Given the description of an element on the screen output the (x, y) to click on. 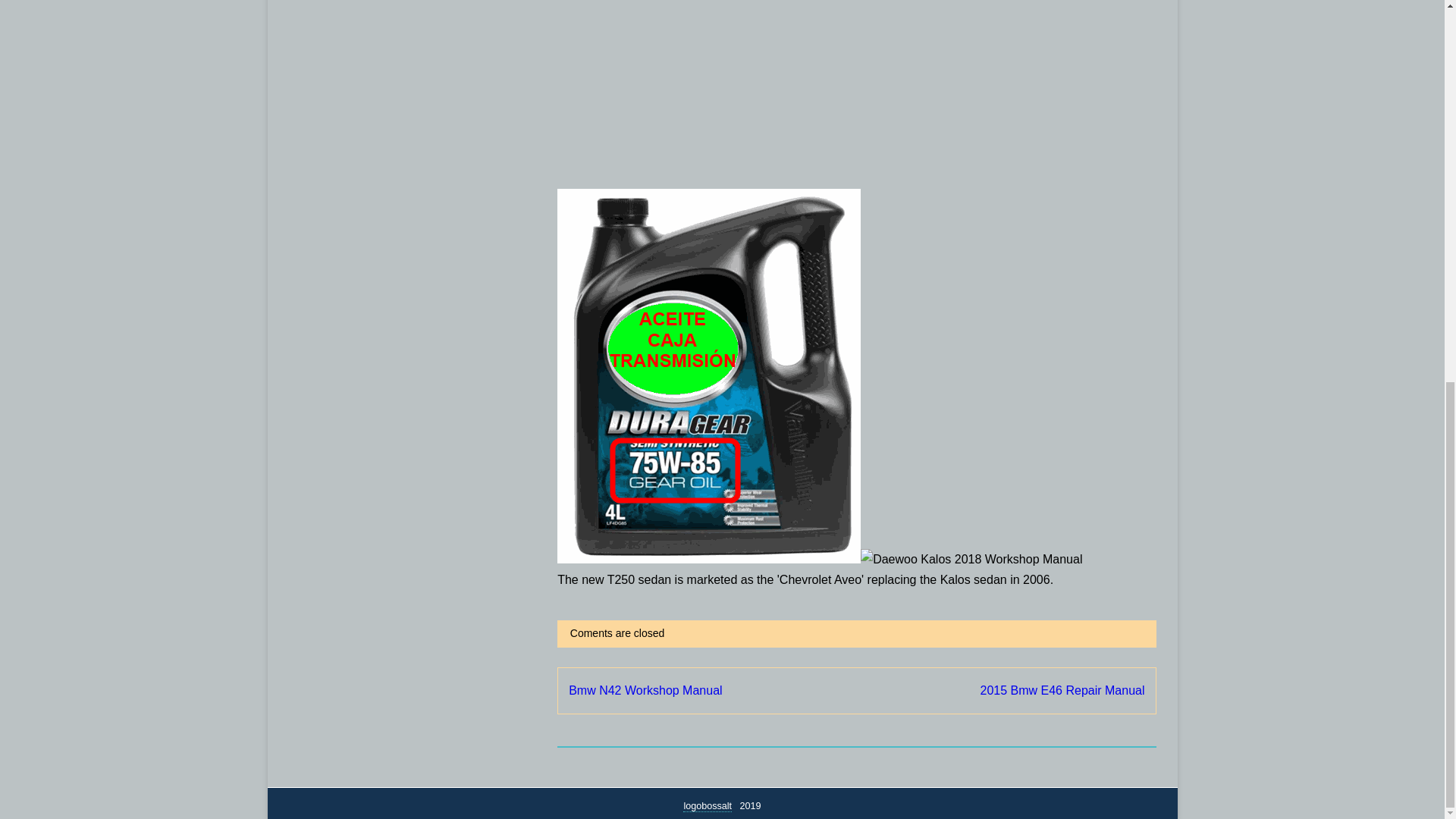
Daewoo Kalos 2018 Workshop Manual (970, 558)
Kalos (856, 91)
logobossalt (707, 806)
Bmw N42 Workshop Manual (645, 689)
2015 Bmw E46 Repair Manual (1061, 689)
